Given the description of an element on the screen output the (x, y) to click on. 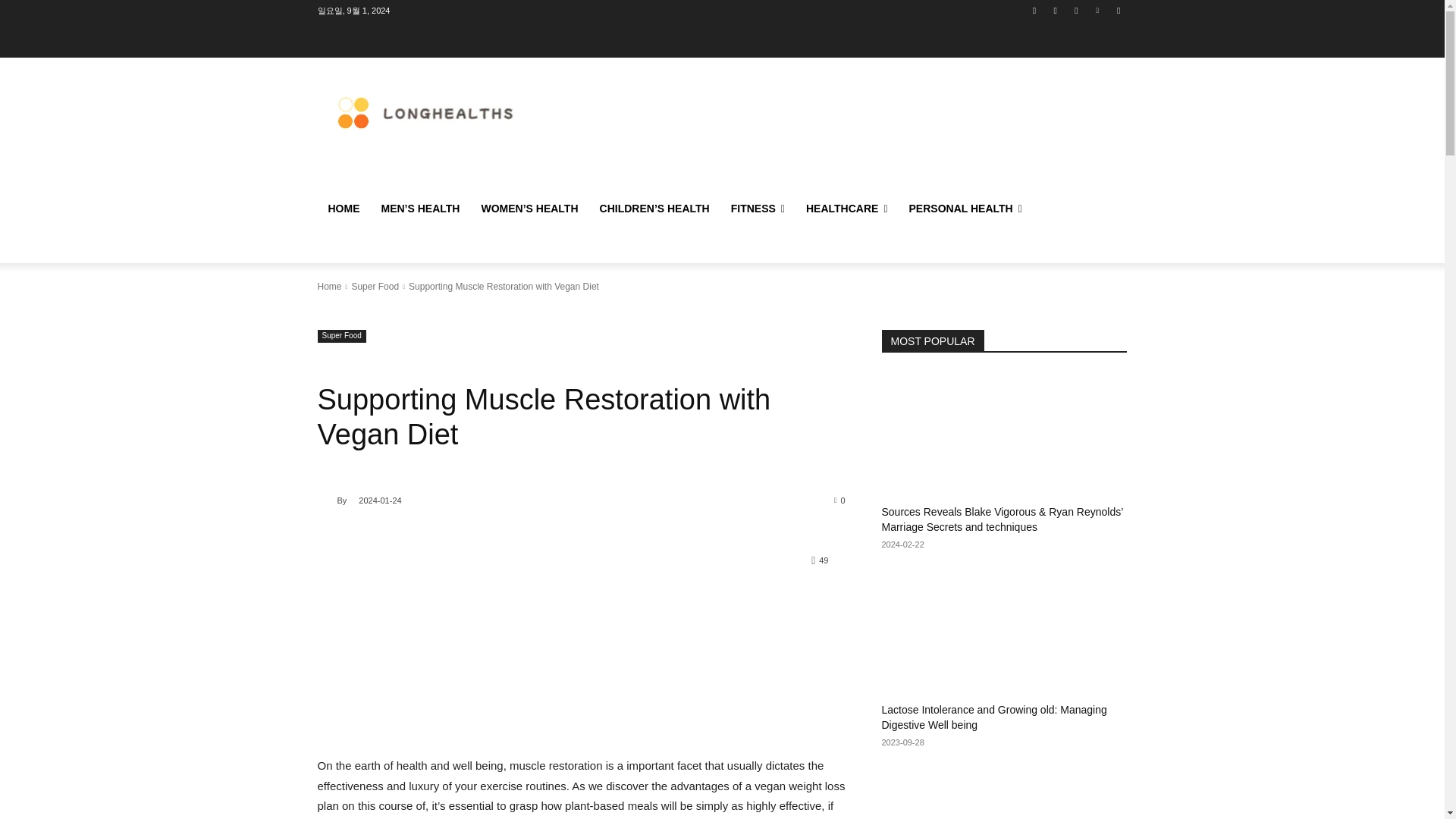
HOME (343, 208)
Instagram (1055, 9)
Facebook (1034, 9)
Vimeo (1097, 9)
FITNESS (757, 208)
Youtube (1117, 9)
View all posts in Super Food (374, 286)
Twitter (1075, 9)
